Given the description of an element on the screen output the (x, y) to click on. 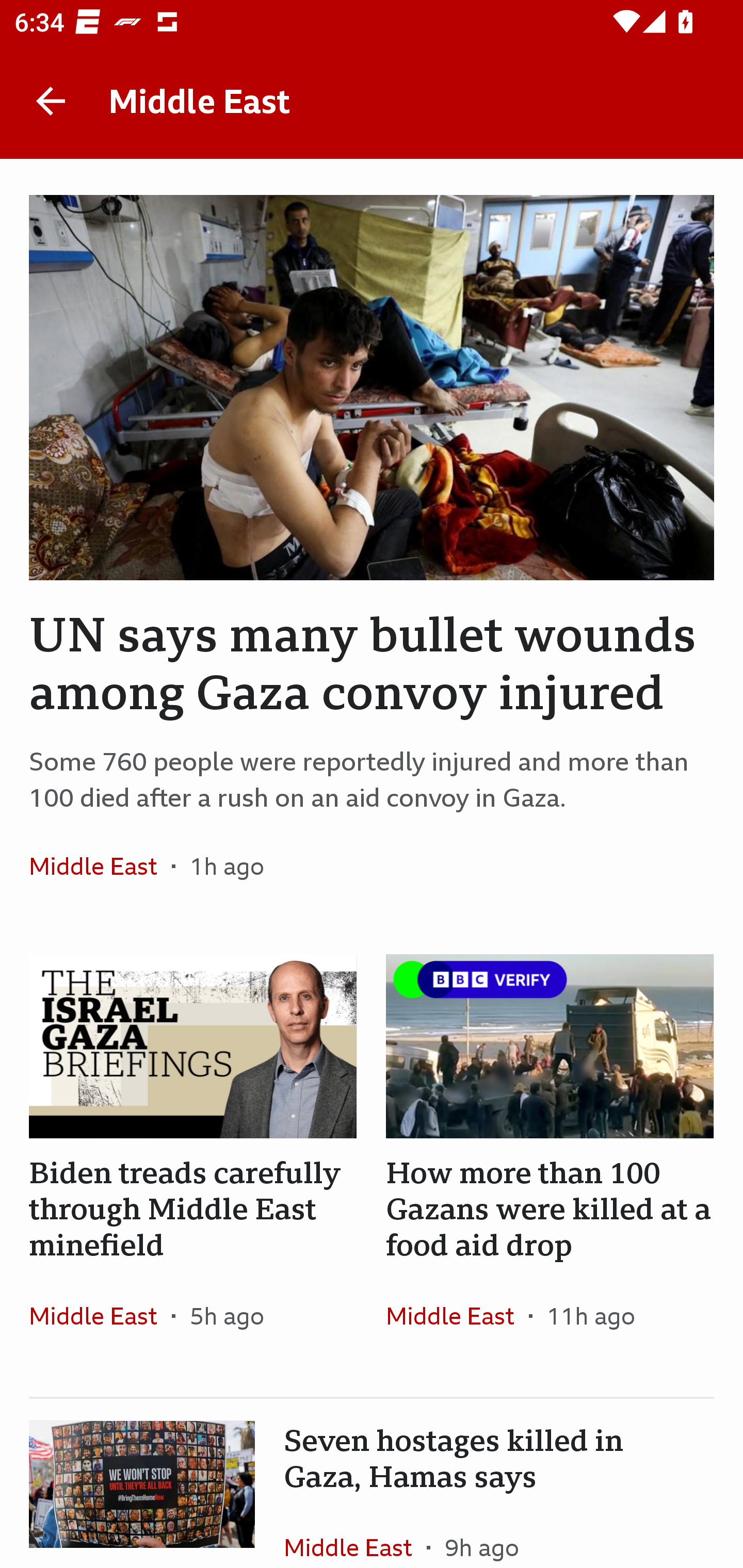
Back (50, 101)
Middle East In the section Middle East (99, 865)
Middle East In the section Middle East (99, 1315)
Middle East In the section Middle East (457, 1315)
Middle East In the section Middle East (354, 1531)
